Given the description of an element on the screen output the (x, y) to click on. 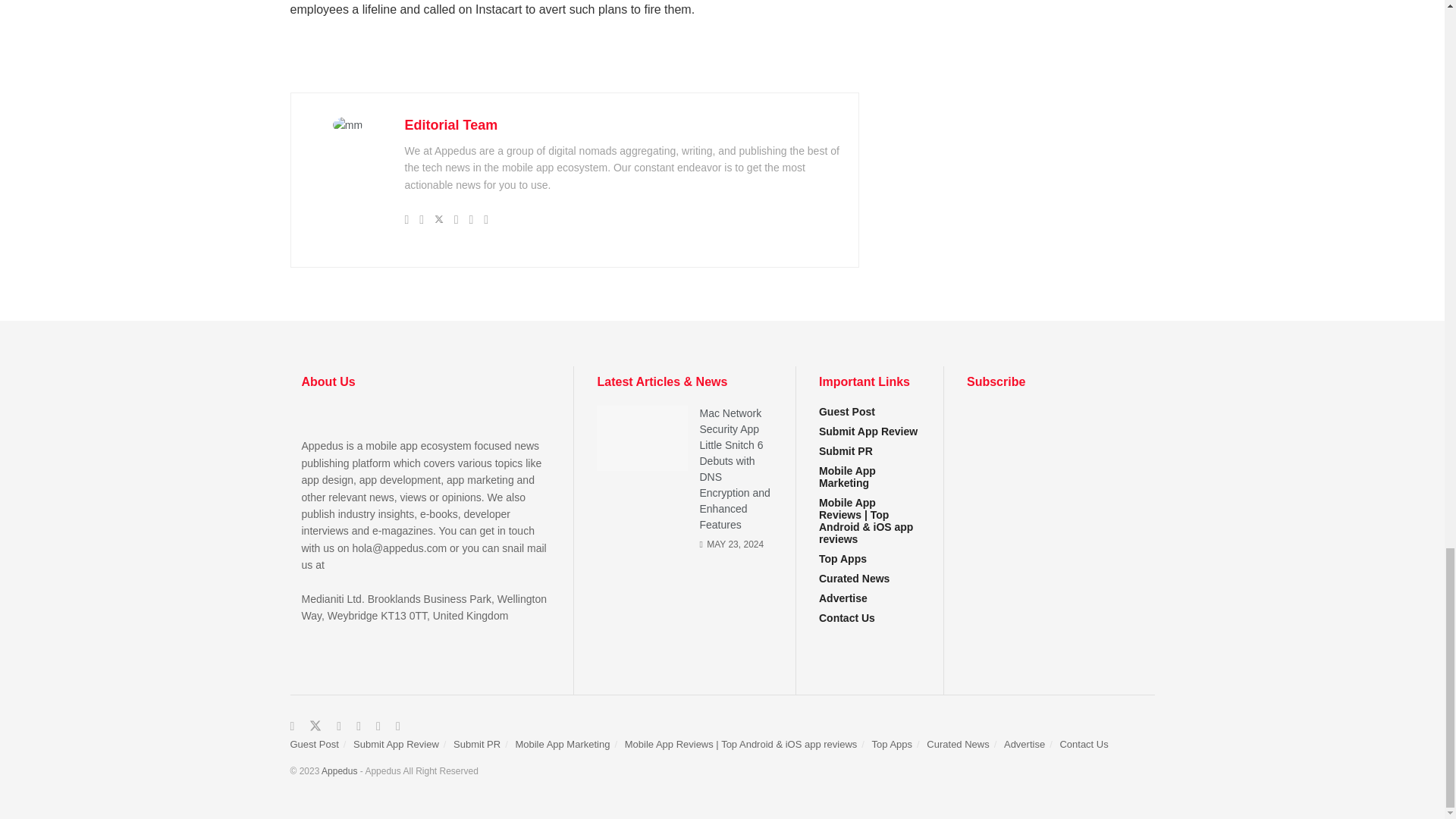
Appedus All Right Reserved (338, 770)
